Given the description of an element on the screen output the (x, y) to click on. 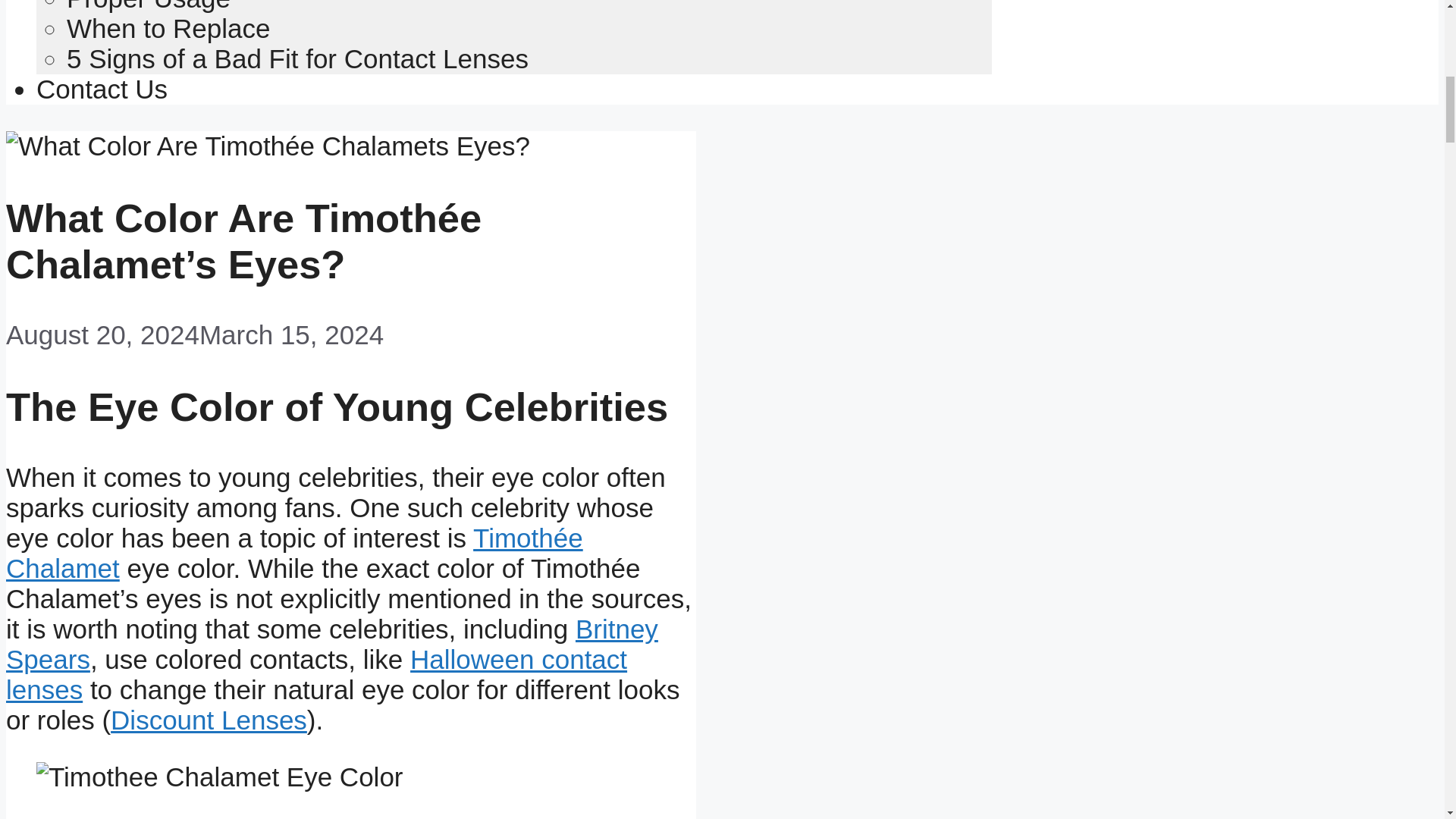
Discount Lenses (208, 719)
Proper Usage (148, 6)
When to Replace (167, 28)
Britney Spears (331, 644)
Halloween contact lenses (316, 674)
Contact Us (101, 89)
5 Signs of a Bad Fit for Contact Lenses (297, 58)
